Given the description of an element on the screen output the (x, y) to click on. 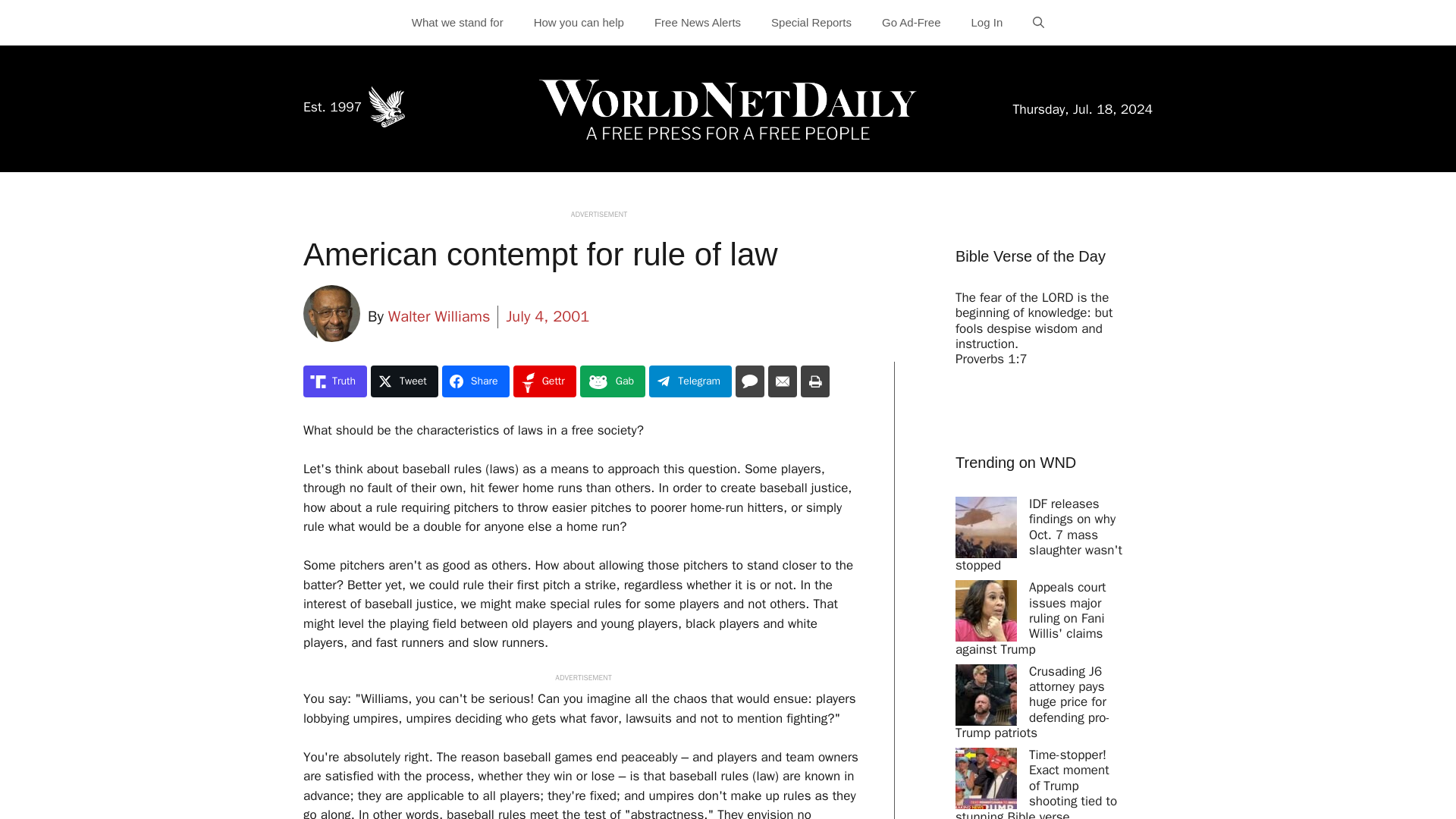
Free News Alerts (697, 22)
Telegram (690, 381)
Share on Gettr (544, 381)
Gettr (544, 381)
Gab (612, 381)
Special Reports (810, 22)
Truth (334, 381)
Share on Telegram (690, 381)
Share on Tweet (404, 381)
Share (475, 381)
Walter Williams (439, 316)
Share on Gab (612, 381)
How you can help (578, 22)
